Given the description of an element on the screen output the (x, y) to click on. 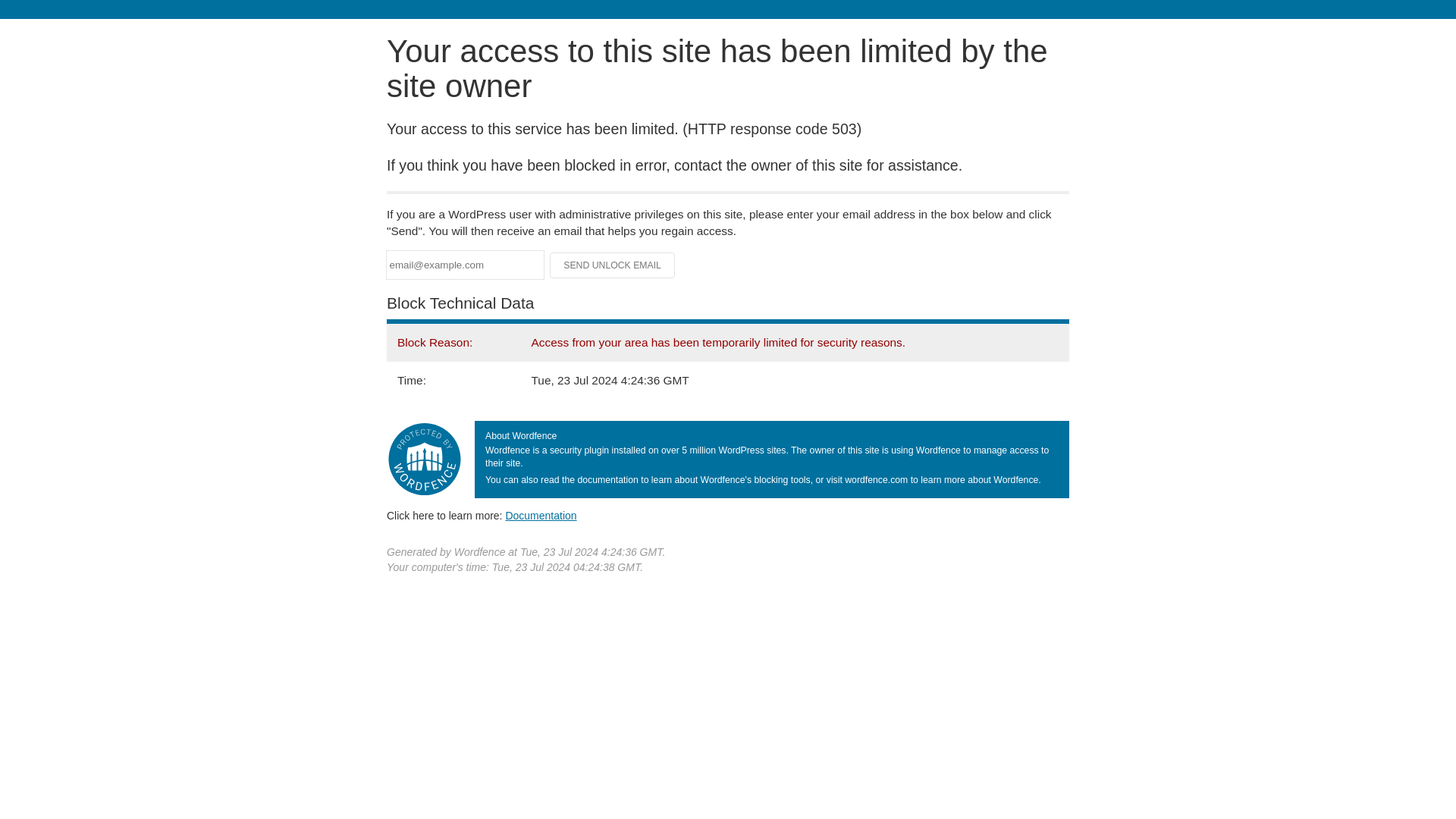
Send Unlock Email (612, 265)
Send Unlock Email (612, 265)
Documentation (540, 515)
